Given the description of an element on the screen output the (x, y) to click on. 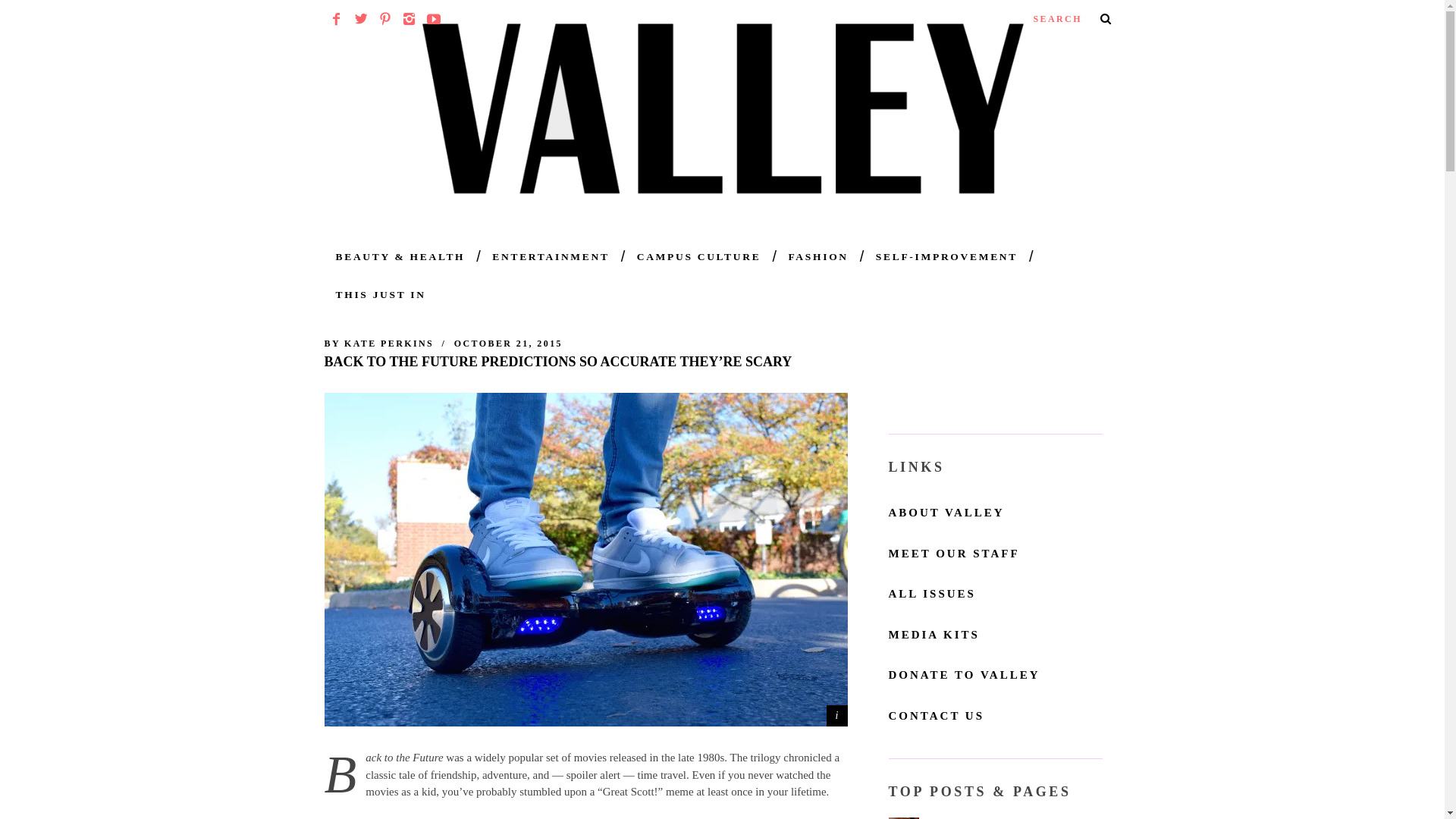
CAMPUS CULTURE (699, 257)
Search (1071, 18)
ENTERTAINMENT (550, 257)
FASHION (817, 257)
